Given the description of an element on the screen output the (x, y) to click on. 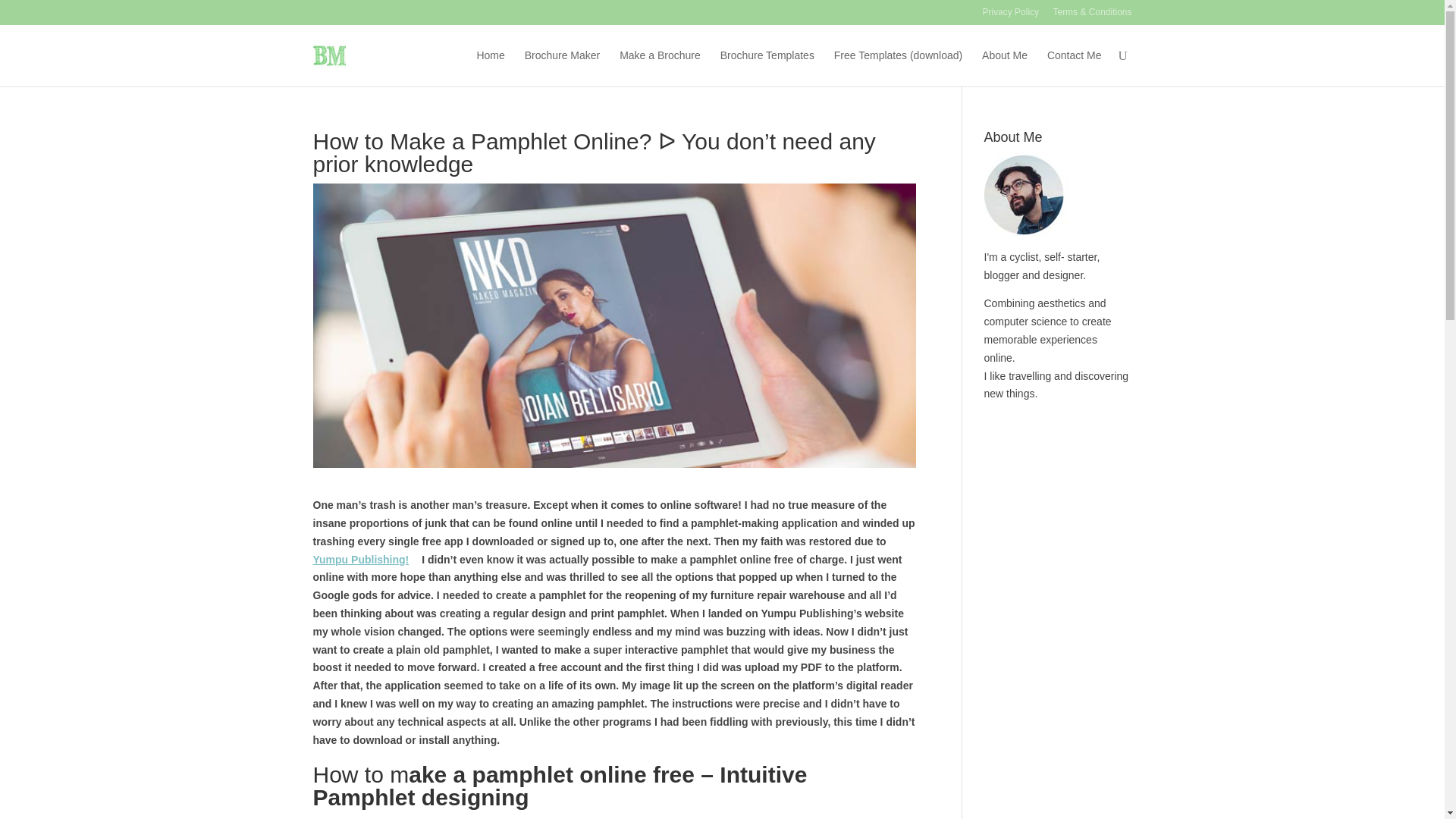
About Me (1004, 66)
Privacy Policy (1010, 16)
Make a Brochure (660, 66)
Brochure Templates (766, 66)
Brochure Maker (561, 66)
Contact Me (1074, 66)
Yumpu Publishing! (366, 559)
